Given the description of an element on the screen output the (x, y) to click on. 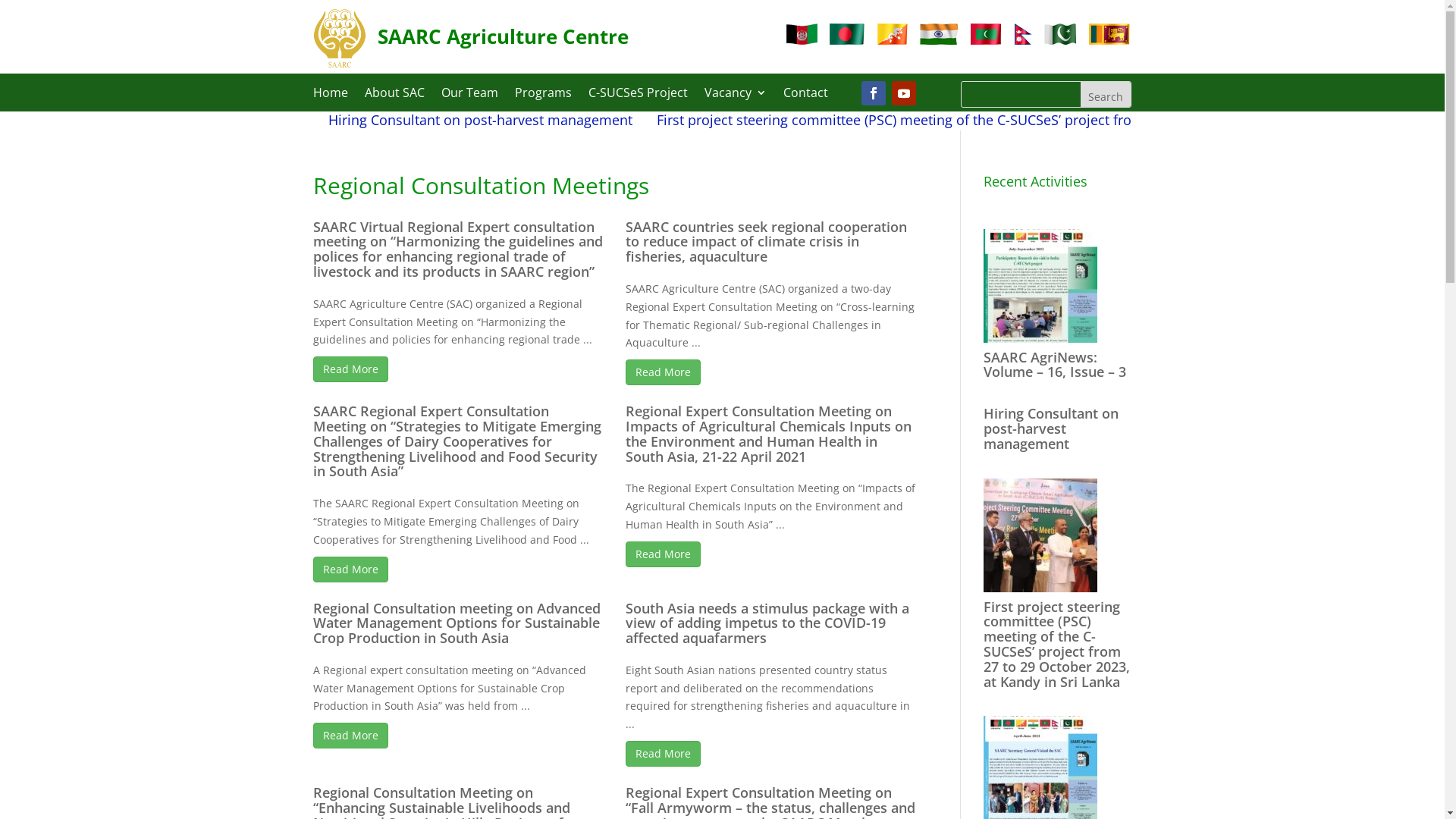
Read More Element type: text (662, 372)
Read More Element type: text (662, 753)
Programs Element type: text (542, 95)
About SAC Element type: text (393, 95)
Hiring Consultant on post-harvest management Element type: text (528, 119)
Search Element type: text (1105, 93)
Follow on Youtube Element type: hover (903, 93)
Read More Element type: text (349, 369)
C-SUCSeS Project Element type: text (637, 95)
Vacancy Element type: text (734, 95)
Contact Element type: text (804, 95)
Our Team Element type: text (469, 95)
Read More Element type: text (349, 735)
Read More Element type: text (662, 554)
Follow on Facebook Element type: hover (873, 93)
Hiring Consultant on post-harvest management Element type: text (1050, 428)
Read More Element type: text (349, 569)
Home Element type: text (329, 95)
